Given the description of an element on the screen output the (x, y) to click on. 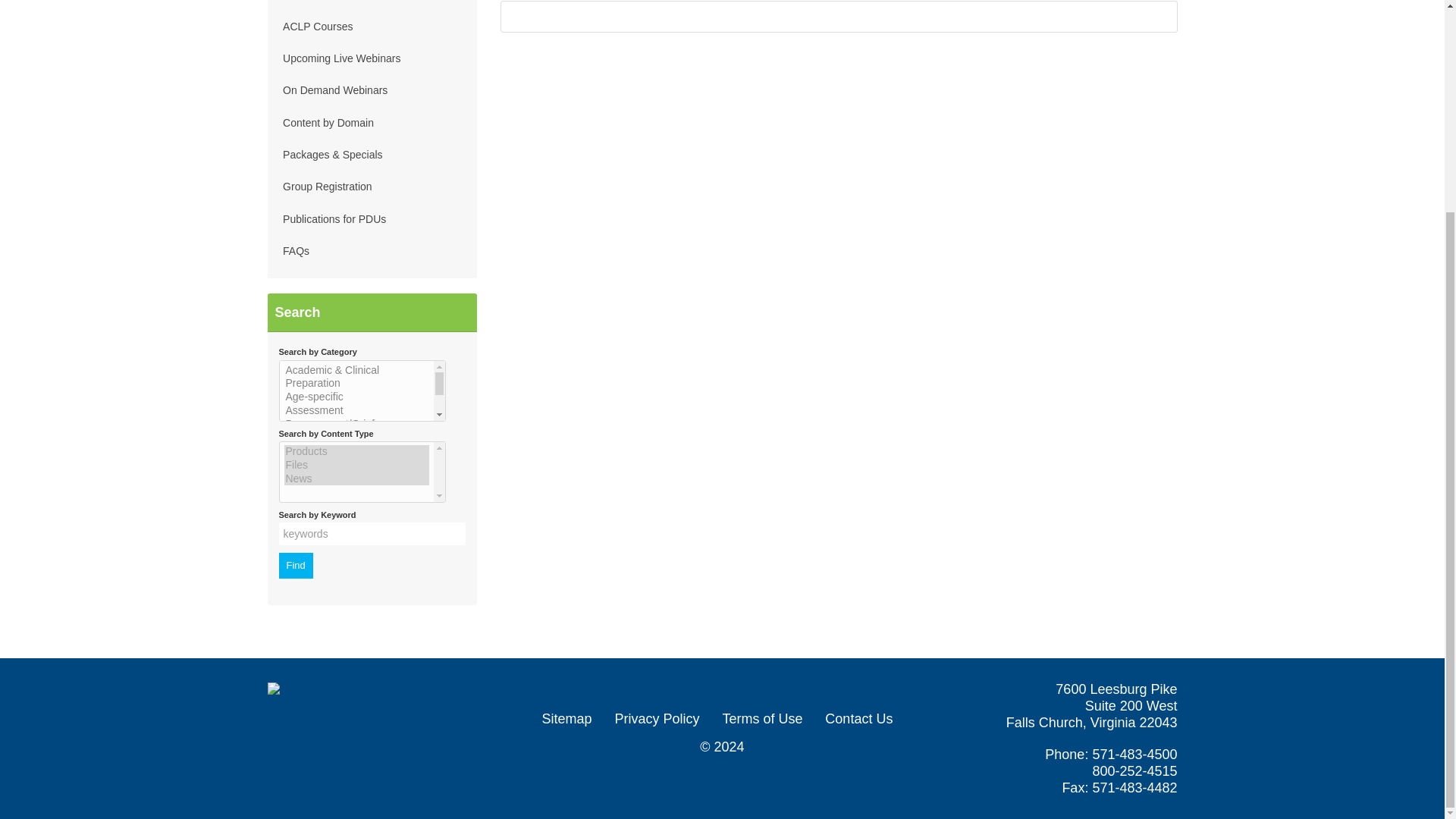
Select type (362, 471)
Overview (533, 1)
-- (362, 390)
ACLP Courses (372, 25)
Find (296, 565)
My Dashboard (372, 4)
